Given the description of an element on the screen output the (x, y) to click on. 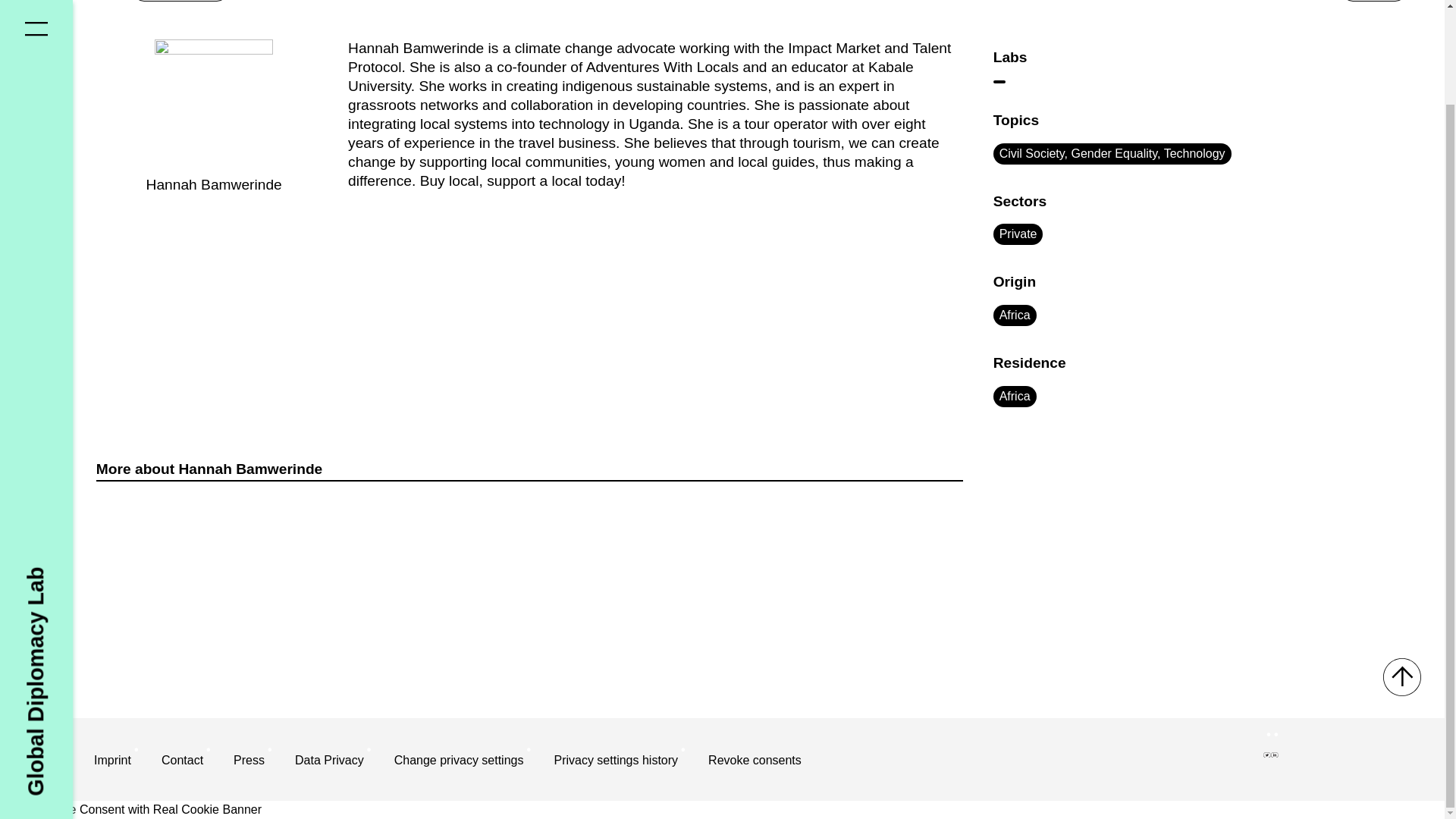
Global Diplomacy Lab (137, 469)
Press (248, 760)
Contact (182, 760)
Imprint (112, 760)
Privacy settings history (615, 760)
Revoke consents (754, 760)
NEXT (1373, 0)
Change privacy settings (458, 760)
Data Privacy (328, 760)
